Given the description of an element on the screen output the (x, y) to click on. 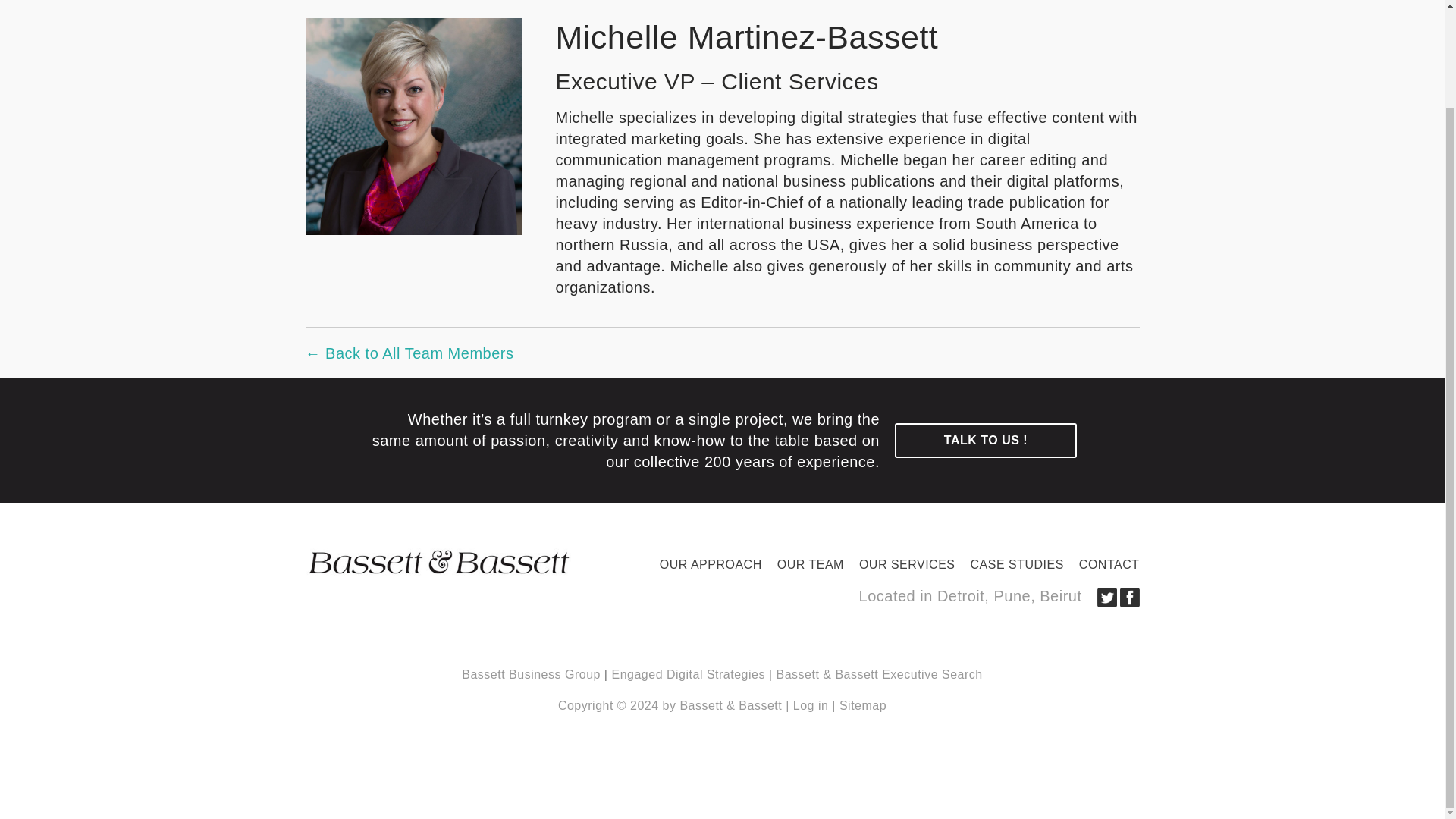
TALK TO US ! (986, 440)
CONTACT (1105, 565)
OUR TEAM (810, 565)
Log in (810, 705)
OUR APPROACH (711, 565)
Sitemap (863, 705)
OUR SERVICES (906, 565)
CASE STUDIES (1016, 565)
Engaged Digital Strategies (687, 674)
Bassett Business Group (530, 674)
